Given the description of an element on the screen output the (x, y) to click on. 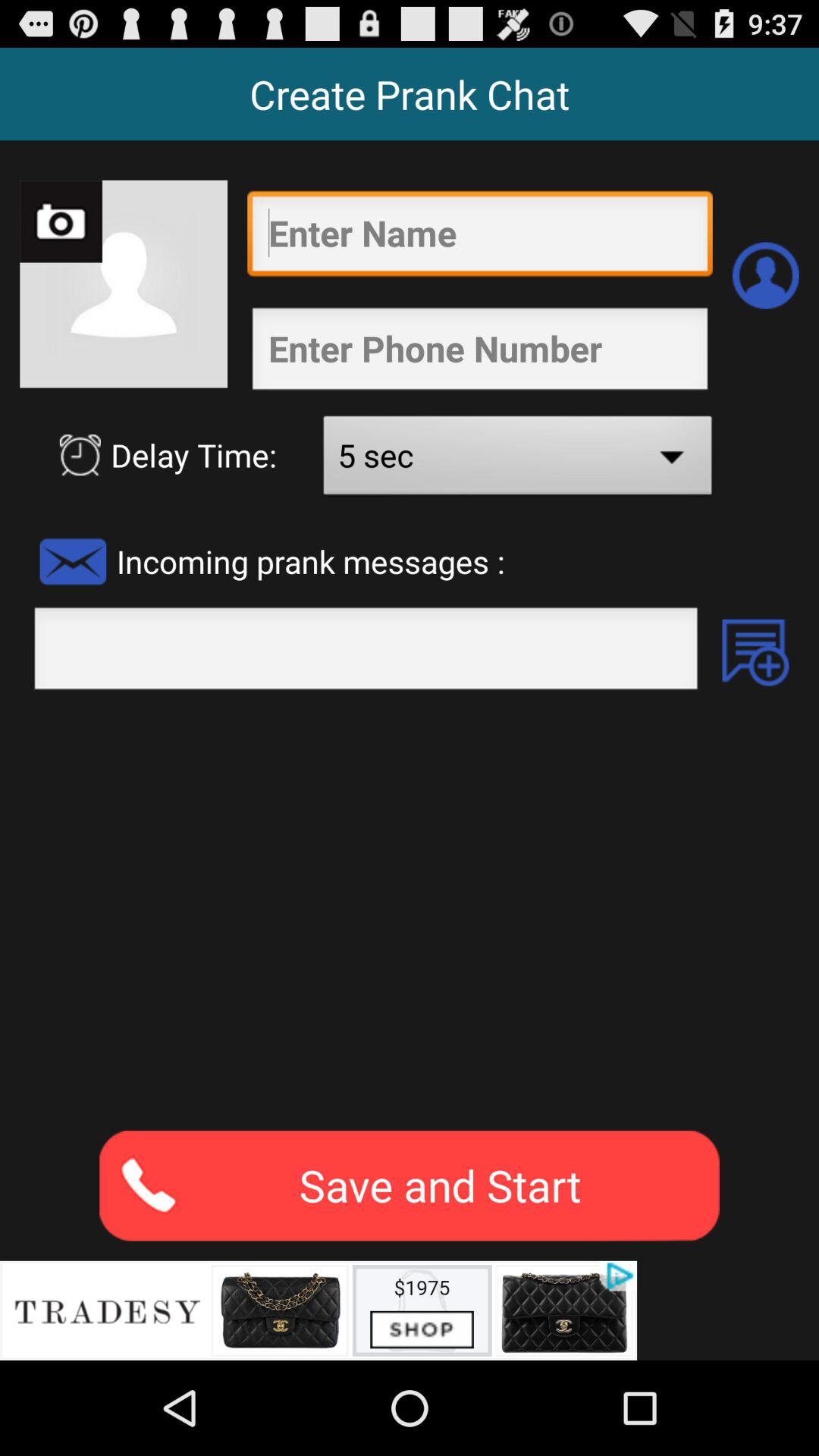
message box (365, 652)
